Given the description of an element on the screen output the (x, y) to click on. 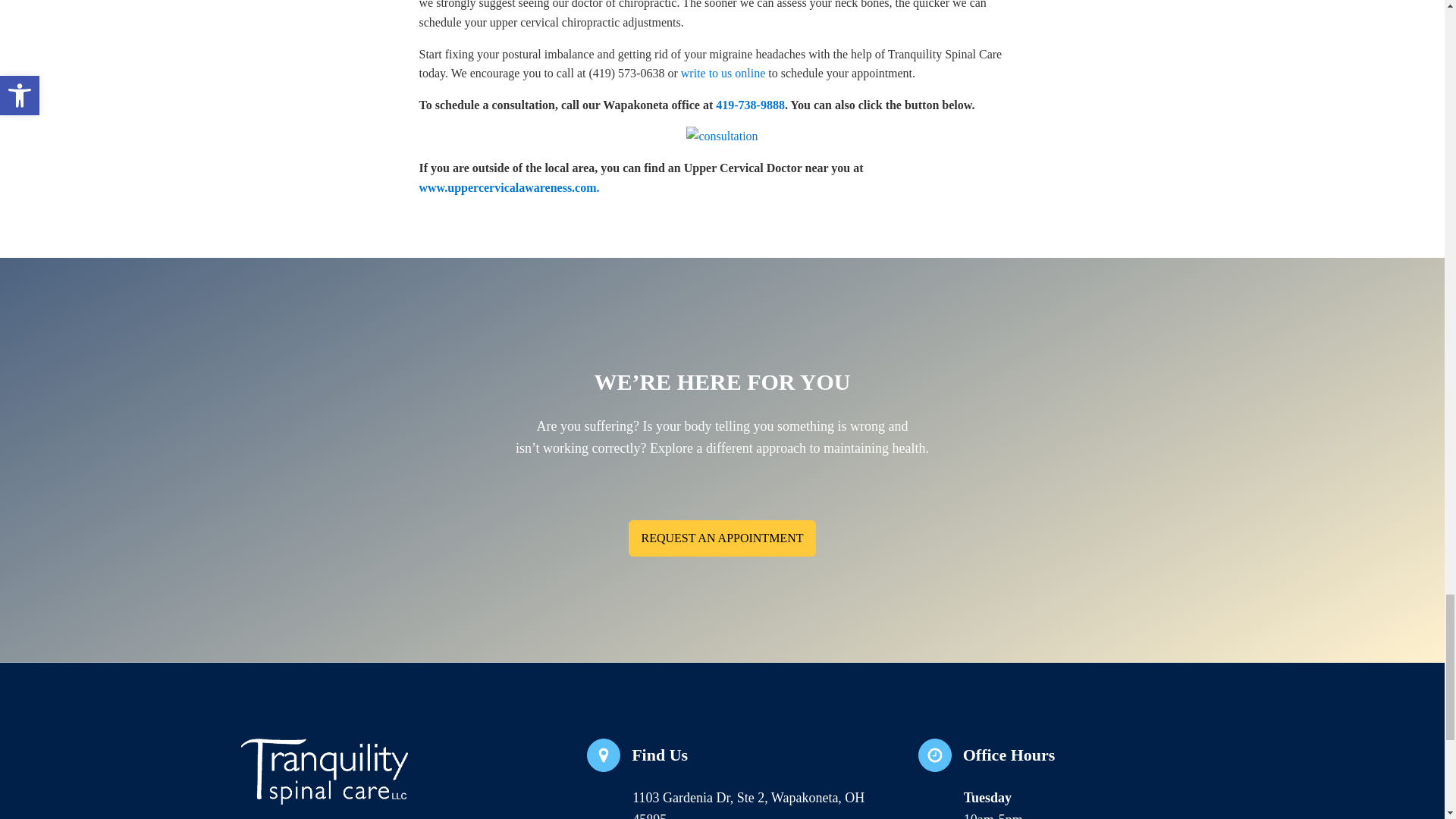
write to us online (723, 72)
419-738-9888 (750, 104)
www.uppercervicalawareness.com. (729, 778)
REQUEST AN APPOINTMENT (508, 187)
